Given the description of an element on the screen output the (x, y) to click on. 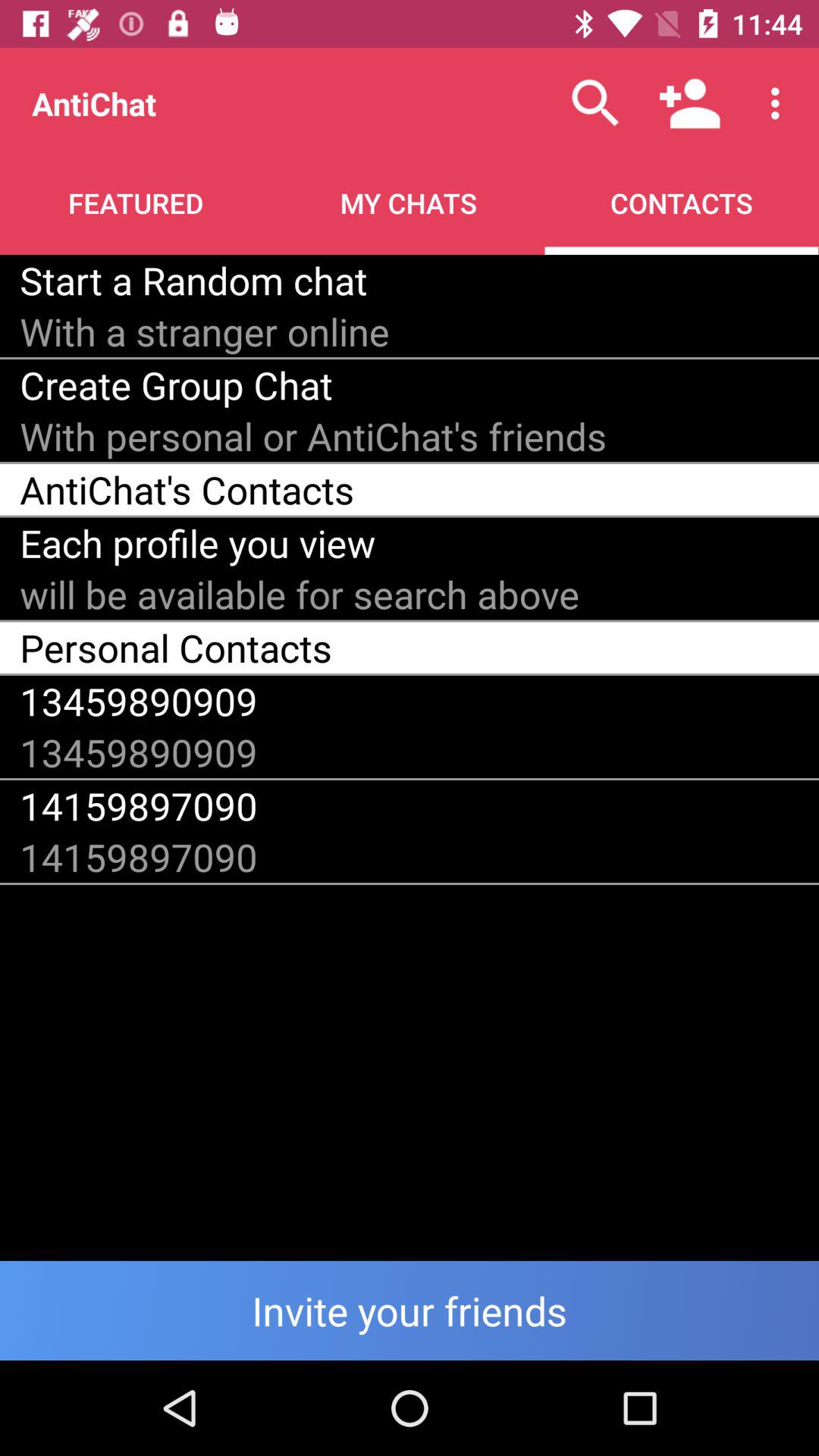
select icon below the create group chat (312, 435)
